Given the description of an element on the screen output the (x, y) to click on. 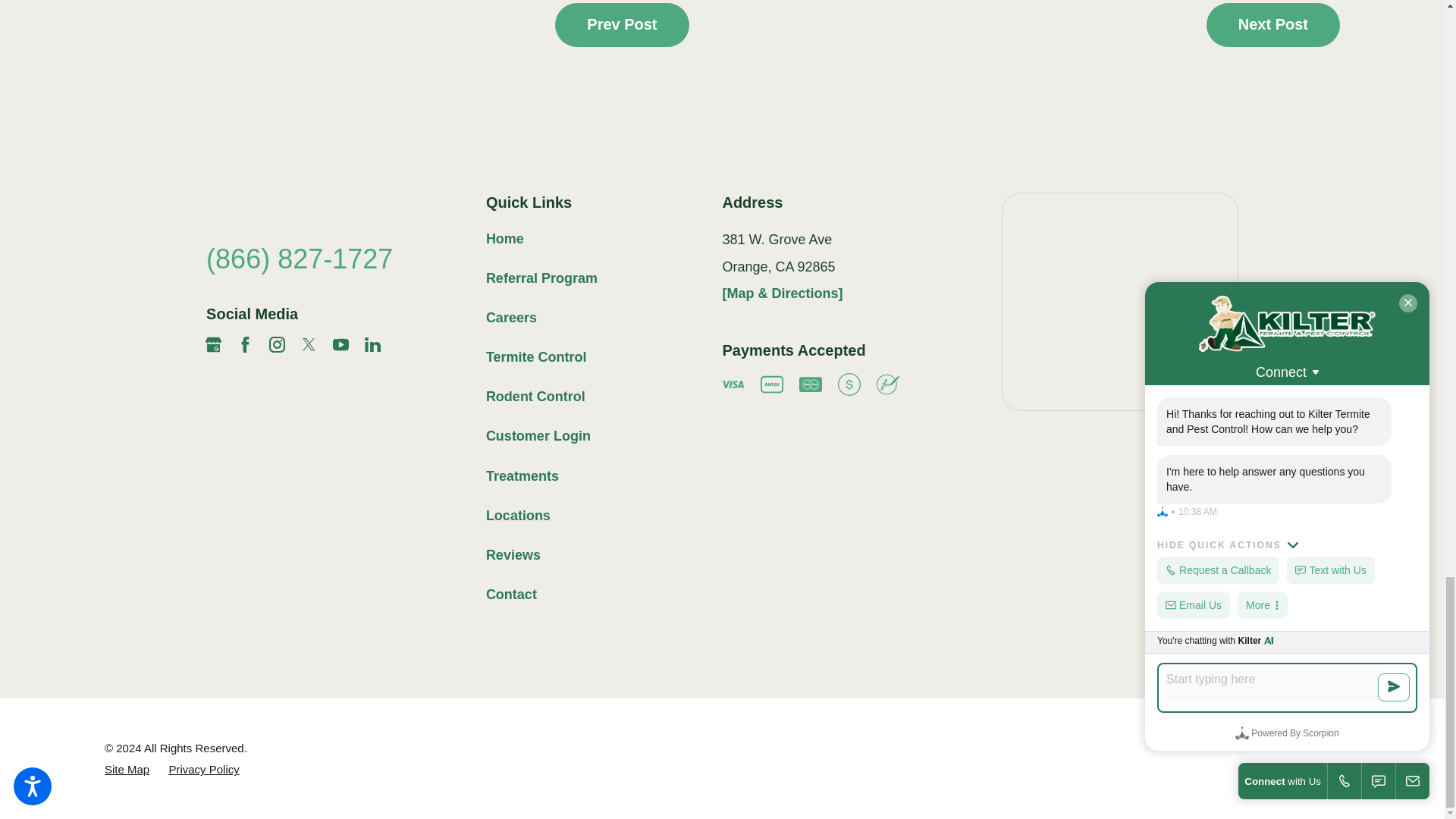
Twitter (309, 344)
Instagram (277, 344)
Facebook (245, 344)
YouTube (341, 344)
Google Business Profile (213, 344)
